Given the description of an element on the screen output the (x, y) to click on. 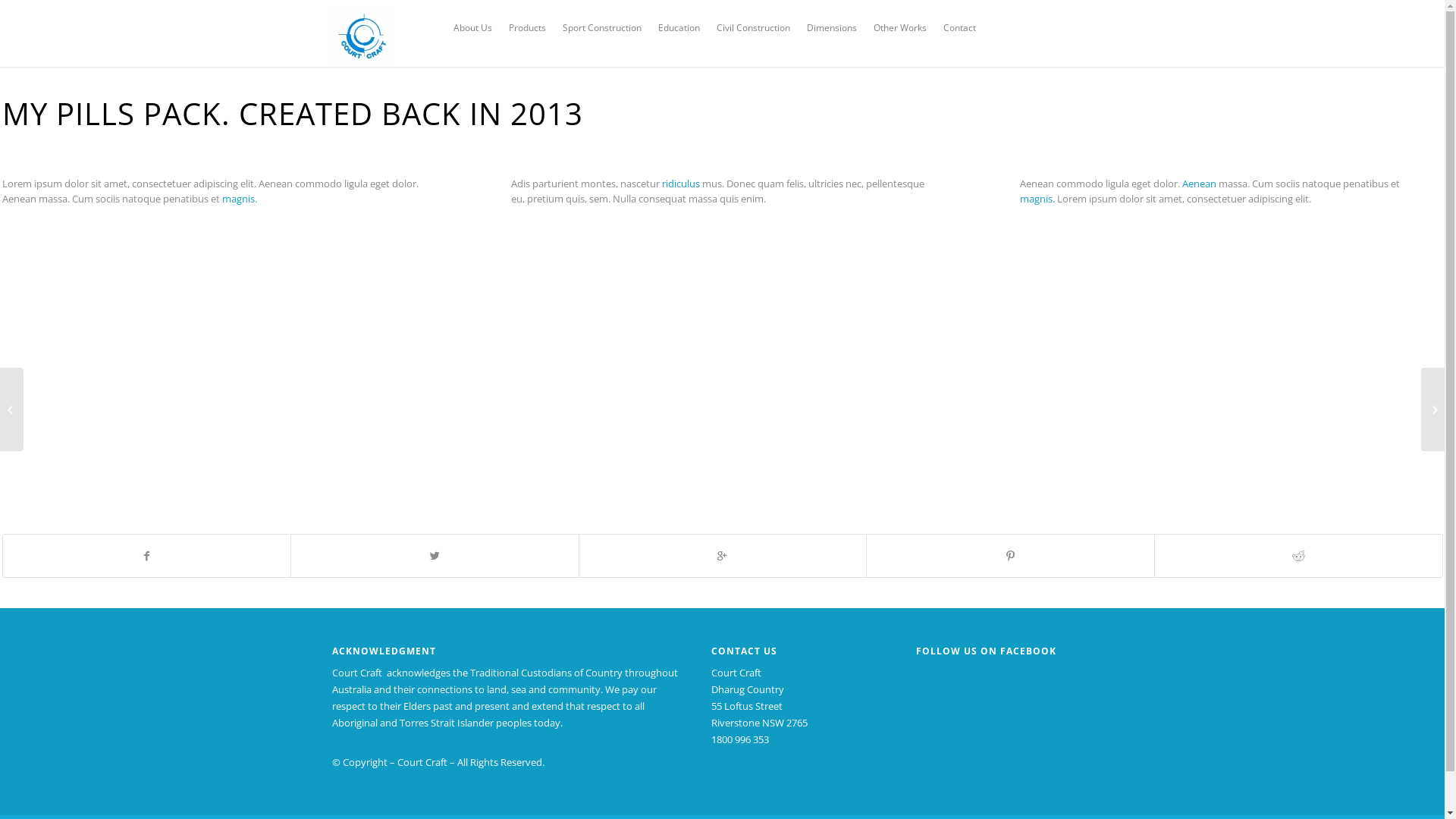
About Us Element type: text (472, 27)
Education Element type: text (678, 27)
Contact Element type: text (959, 27)
Other Works Element type: text (900, 27)
Sport Construction Element type: text (601, 27)
Dimensions Element type: text (831, 27)
Civil Construction Element type: text (753, 27)
Products Element type: text (527, 27)
